Given the description of an element on the screen output the (x, y) to click on. 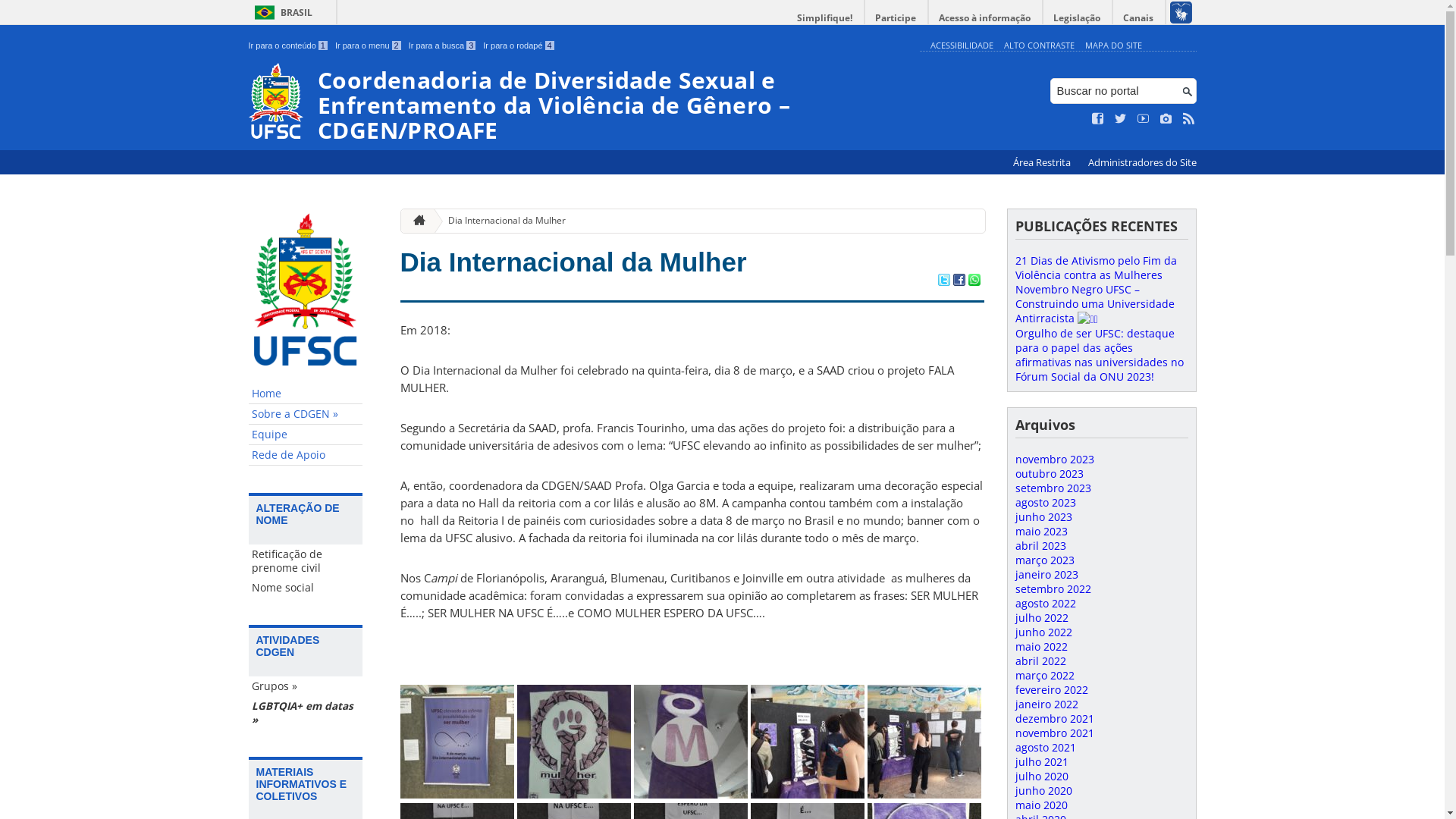
Ir para o menu 2 Element type: text (368, 45)
julho 2022 Element type: text (1040, 617)
abril 2022 Element type: text (1039, 660)
ALTO CONTRASTE Element type: text (1039, 44)
outubro 2023 Element type: text (1048, 473)
Simplifique! Element type: text (825, 18)
novembro 2021 Element type: text (1053, 732)
dezembro 2021 Element type: text (1053, 718)
junho 2020 Element type: text (1042, 790)
Equipe Element type: text (305, 434)
abril 2023 Element type: text (1039, 545)
agosto 2021 Element type: text (1044, 747)
Compartilhar no WhatsApp Element type: hover (973, 280)
Administradores do Site Element type: text (1141, 162)
Compartilhar no Facebook Element type: hover (958, 280)
BRASIL Element type: text (280, 12)
Rede de Apoio Element type: text (305, 455)
maio 2023 Element type: text (1040, 531)
Veja no Instagram Element type: hover (1166, 118)
janeiro 2023 Element type: text (1045, 574)
fevereiro 2022 Element type: text (1050, 689)
junho 2023 Element type: text (1042, 516)
Canais Element type: text (1138, 18)
Compartilhar no Twitter Element type: hover (943, 280)
Dia Internacional da Mulher Element type: text (573, 261)
agosto 2023 Element type: text (1044, 502)
Nome social Element type: text (305, 587)
junho 2022 Element type: text (1042, 631)
MAPA DO SITE Element type: text (1112, 44)
novembro 2023 Element type: text (1053, 458)
julho 2020 Element type: text (1040, 775)
Ir para a busca 3 Element type: text (442, 45)
maio 2022 Element type: text (1040, 646)
Curta no Facebook Element type: hover (1098, 118)
agosto 2022 Element type: text (1044, 603)
Dia Internacional da Mulher Element type: text (500, 220)
Siga no Twitter Element type: hover (1120, 118)
julho 2021 Element type: text (1040, 761)
Participe Element type: text (895, 18)
setembro 2023 Element type: text (1052, 487)
setembro 2022 Element type: text (1052, 588)
ACESSIBILIDADE Element type: text (960, 44)
maio 2020 Element type: text (1040, 804)
janeiro 2022 Element type: text (1045, 703)
Home Element type: text (305, 393)
